Given the description of an element on the screen output the (x, y) to click on. 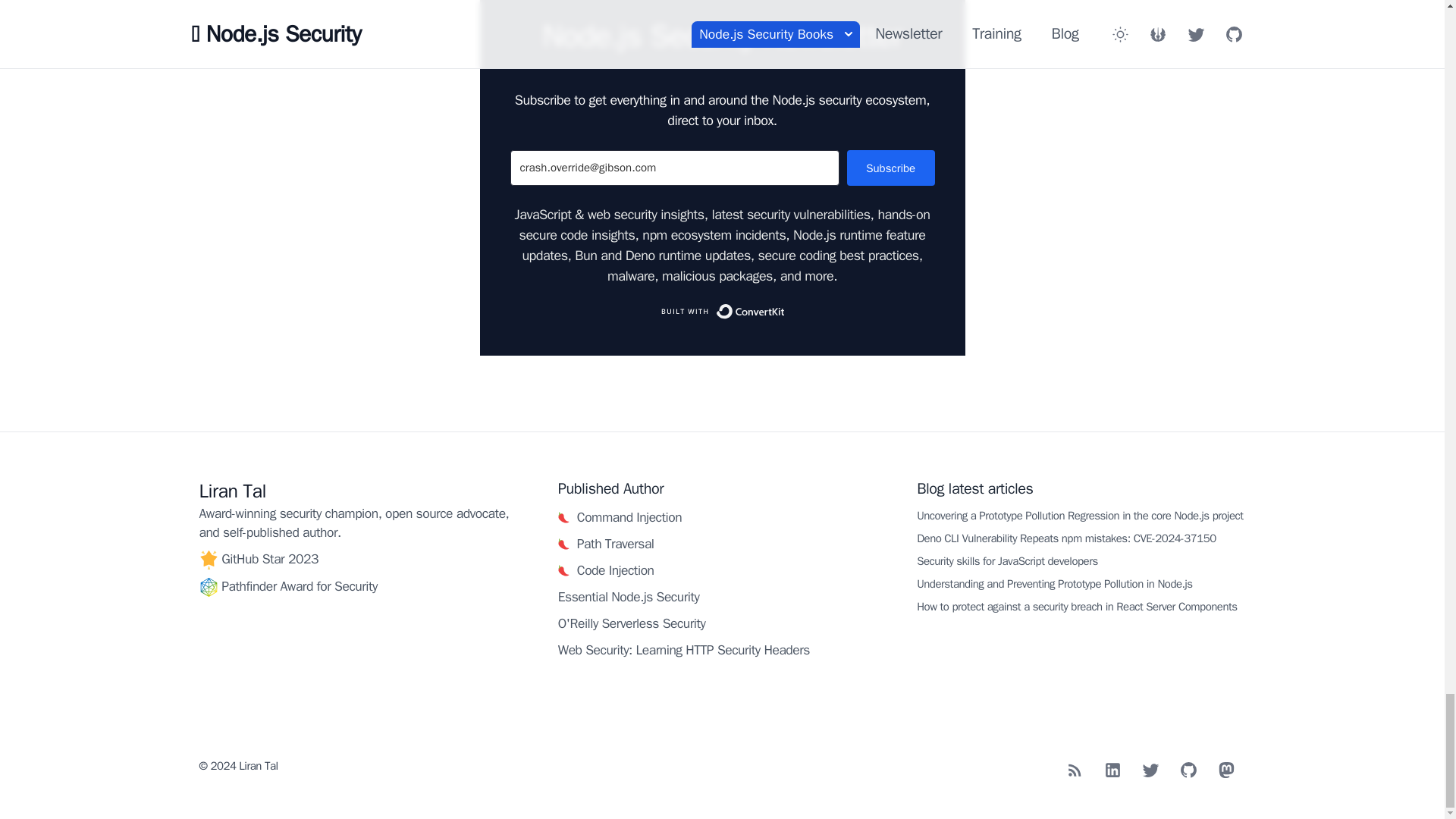
Subscribe (890, 167)
GitHub Star 2023 (269, 558)
Built with ConvertKit (722, 311)
Liran Tal (231, 490)
